Given the description of an element on the screen output the (x, y) to click on. 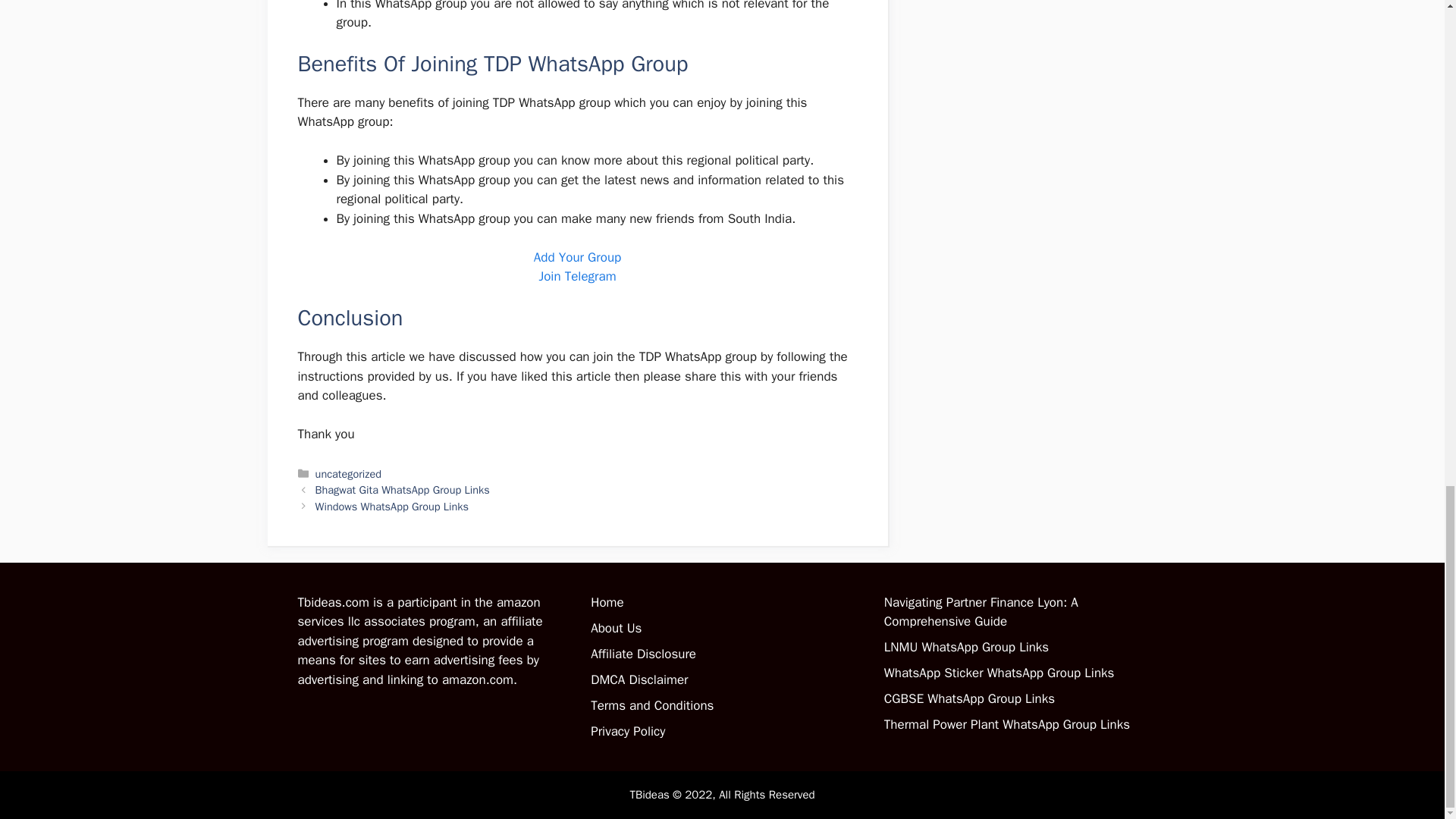
Add Your Group (577, 257)
Windows WhatsApp Group Links (391, 506)
uncategorized (348, 473)
Bhagwat Gita WhatsApp Group Links (402, 489)
Join Telegram (576, 276)
